Given the description of an element on the screen output the (x, y) to click on. 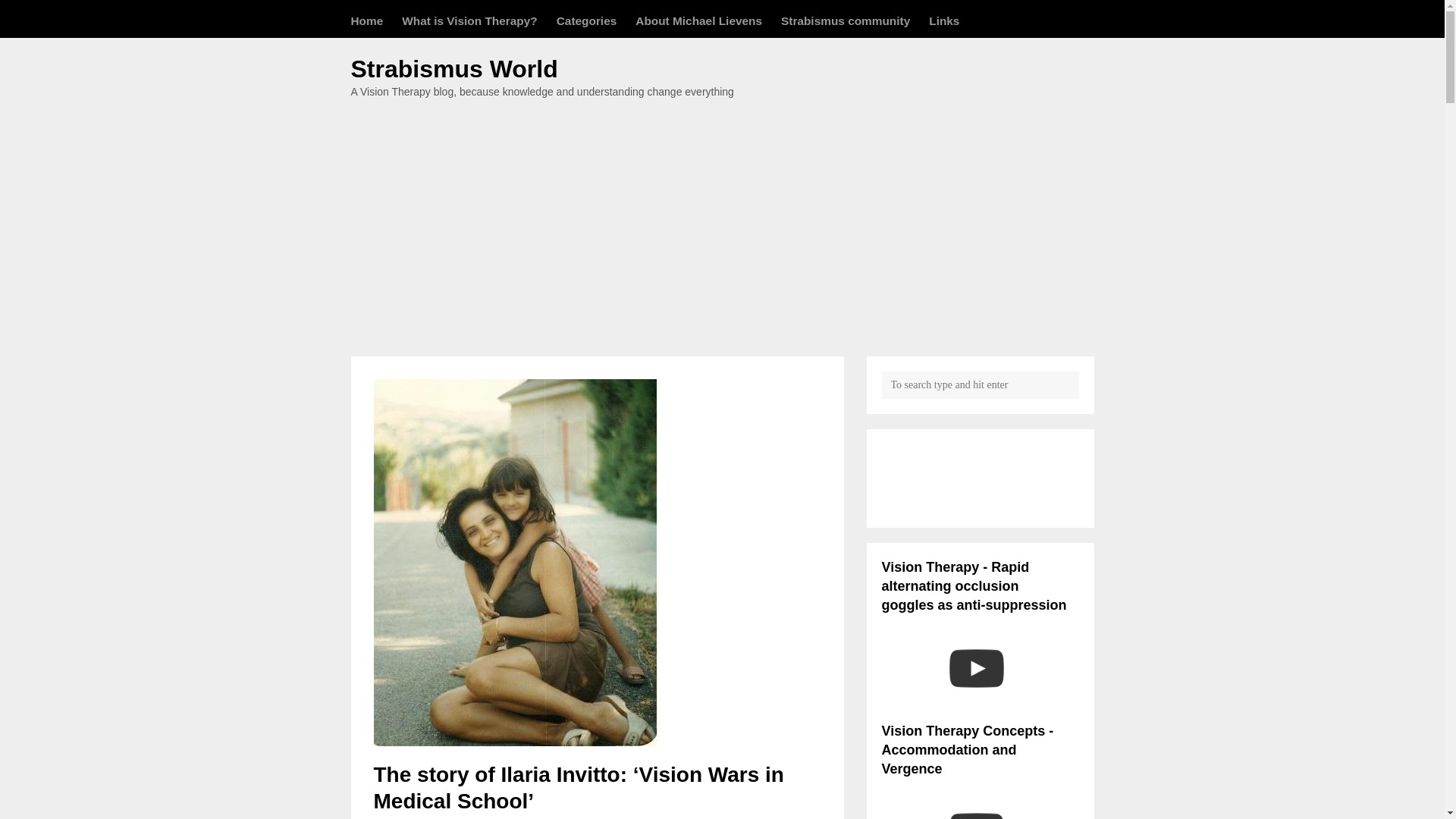
Strabismus World (453, 68)
What is Vision Therapy? (469, 20)
Categories (586, 20)
About Michael Lievens (697, 20)
Vision Therapy Concepts - Accommodation and Vergence (975, 799)
Strabismus World (453, 68)
Strabismus community (845, 20)
